Given the description of an element on the screen output the (x, y) to click on. 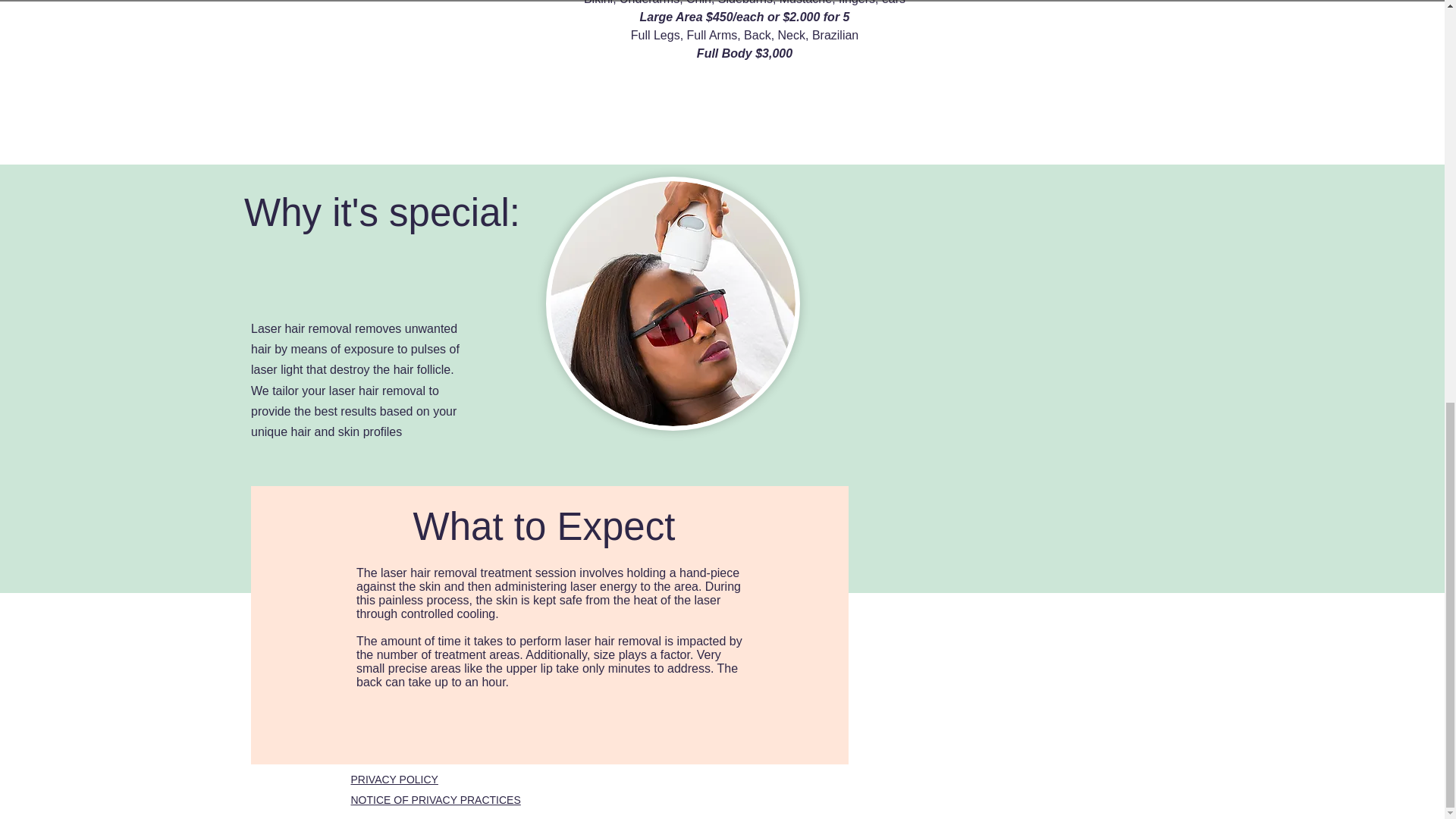
NOTICE OF PRIVACY PRACTICES (434, 799)
PRIVACY POLICY (394, 779)
